Given the description of an element on the screen output the (x, y) to click on. 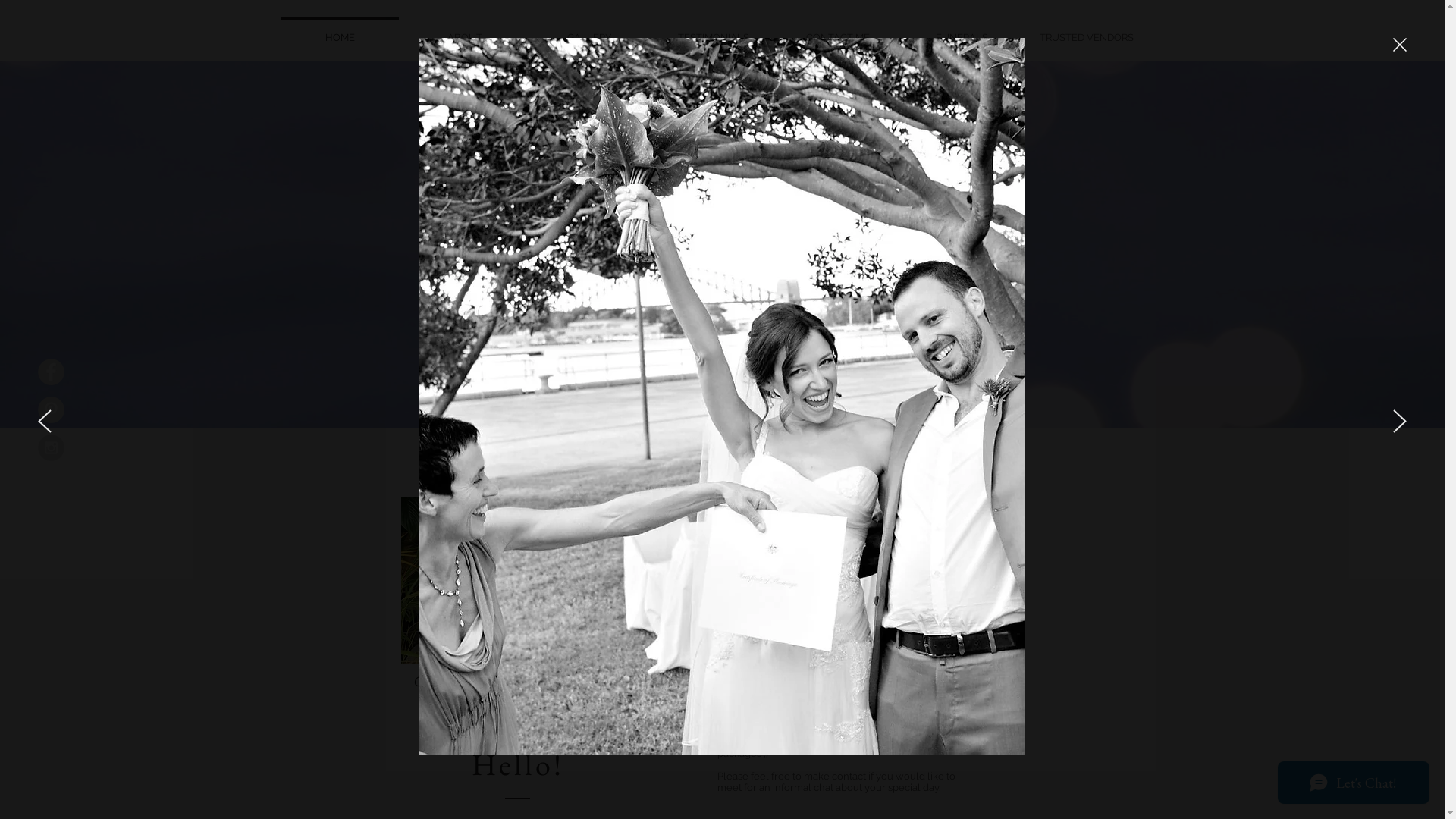
CONTACT ME Element type: text (837, 29)
TRUSTED VENDORS Element type: text (1085, 29)
HOME Element type: text (339, 29)
MARRIAGE CELEBRANT Element type: text (723, 265)
TESTIMONIALS Element type: text (712, 29)
FUNERALS Element type: text (961, 29)
ABOUT Element type: text (463, 29)
GALLERY Element type: text (588, 29)
